Given the description of an element on the screen output the (x, y) to click on. 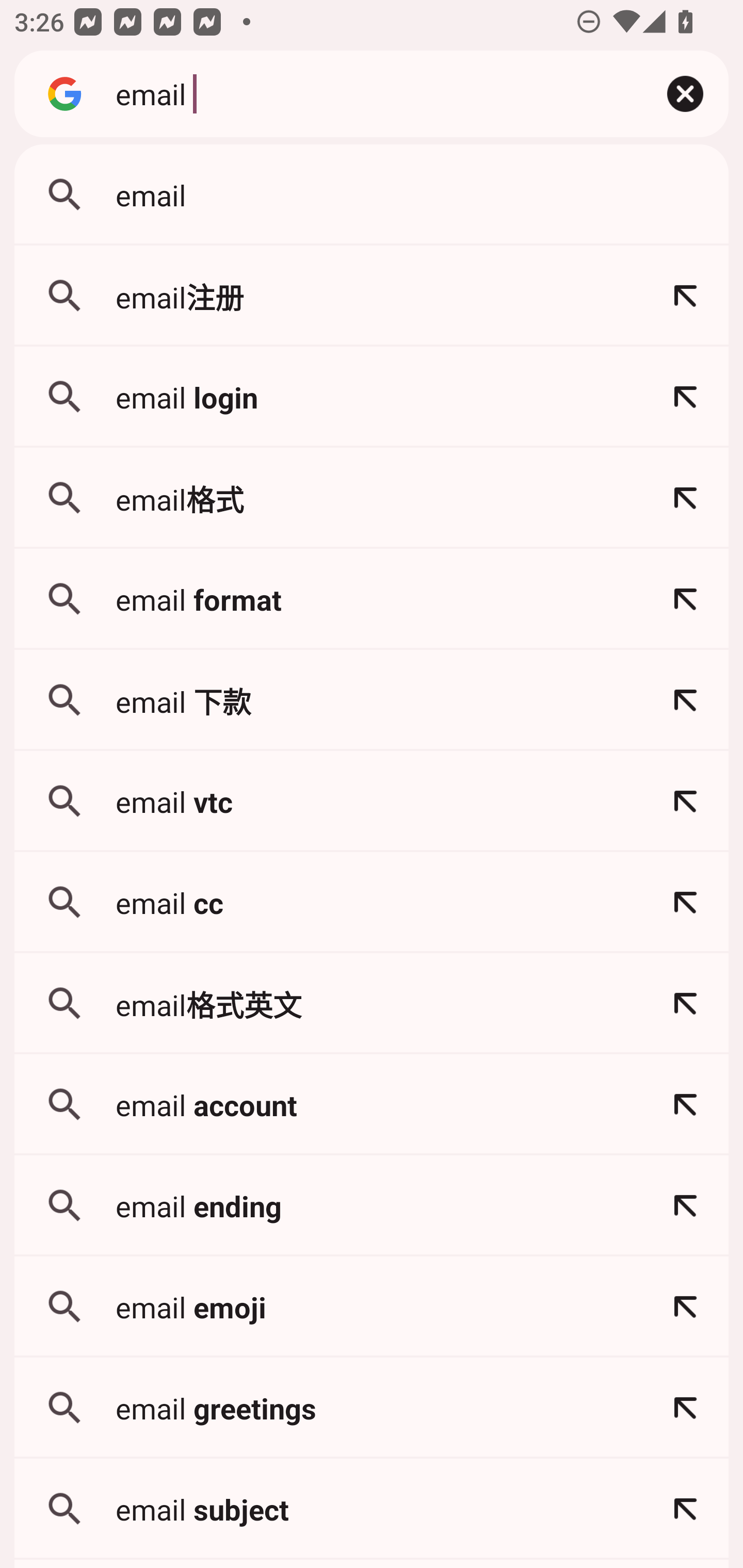
Clear input (684, 93)
email  (367, 92)
email (371, 195)
email注册 Refine: email注册 (371, 296)
Refine: email注册 (684, 296)
email login Refine: email login (371, 397)
Refine: email login (684, 397)
email格式 Refine: email格式 (371, 498)
Refine: email格式 (684, 498)
email format Refine: email format (371, 598)
Refine: email format (684, 598)
email 下款 Refine: email 下款 (371, 700)
Refine: email 下款 (684, 700)
email vtc Refine: email vtc (371, 801)
Refine: email vtc (684, 801)
email cc Refine: email cc (371, 902)
Refine: email cc (684, 902)
email格式英文 Refine: email格式英文 (371, 1003)
Refine: email格式英文 (684, 1003)
email account Refine: email account (371, 1104)
Refine: email account (684, 1104)
email ending Refine: email ending (371, 1205)
Refine: email ending (684, 1205)
email emoji Refine: email emoji (371, 1306)
Refine: email emoji (684, 1306)
email greetings Refine: email greetings (371, 1407)
Refine: email greetings (684, 1407)
email subject Refine: email subject (371, 1509)
Refine: email subject (684, 1509)
